Given the description of an element on the screen output the (x, y) to click on. 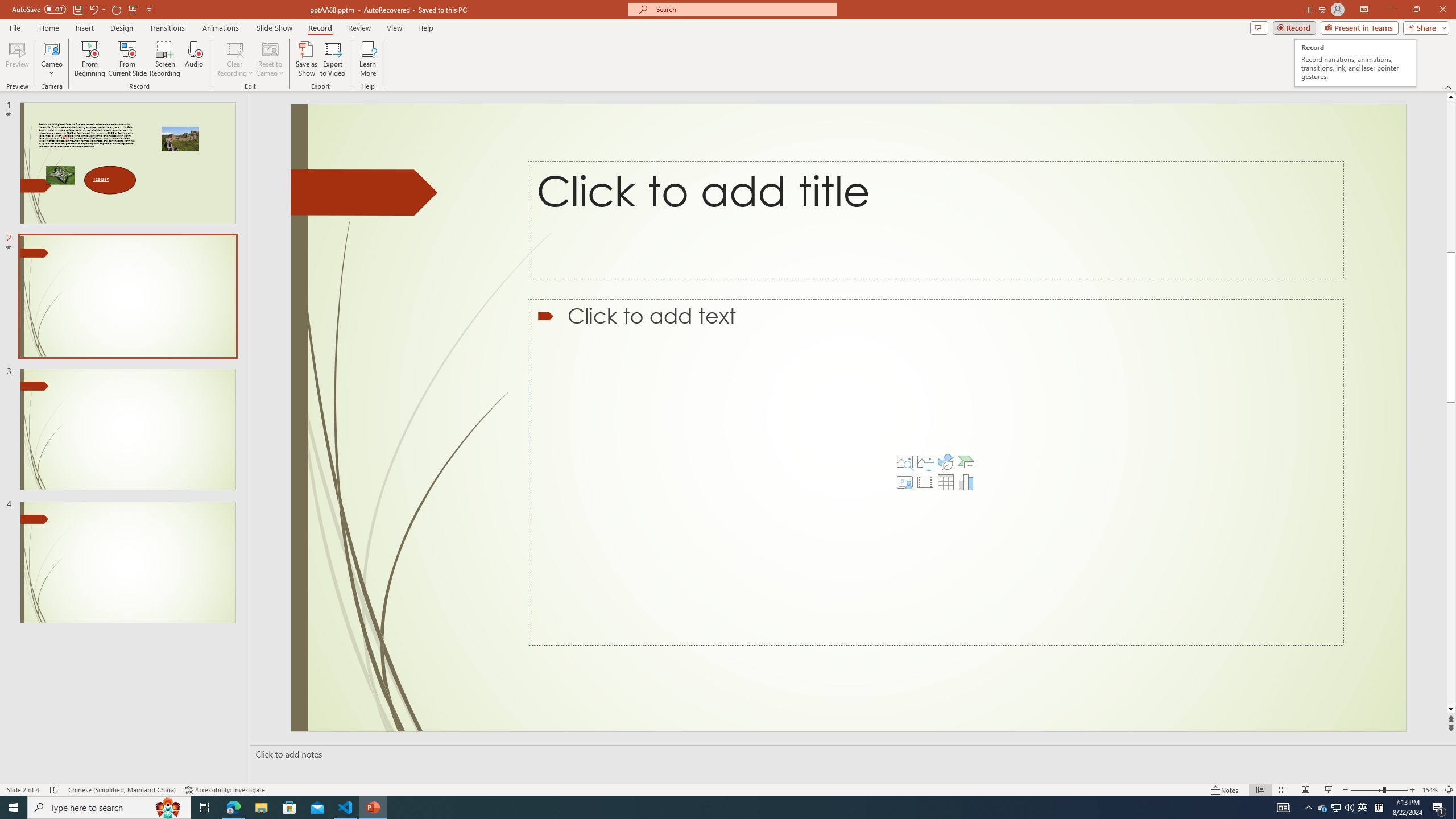
From Beginning... (89, 58)
Insert an Icon (945, 461)
